Given the description of an element on the screen output the (x, y) to click on. 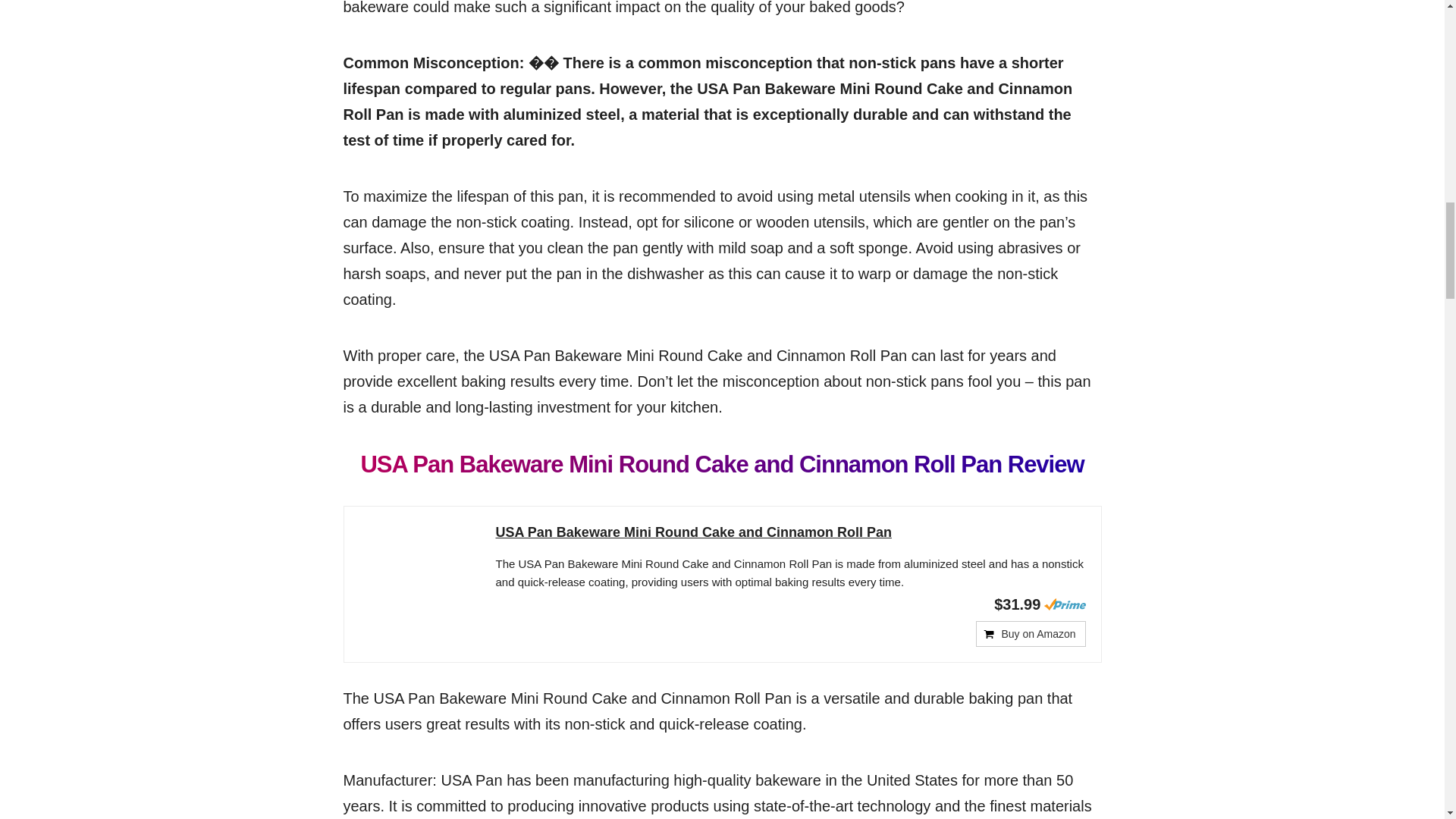
USA Pan Bakeware Mini Round Cake and Cinnamon Roll Pan (791, 532)
Buy on Amazon (1029, 633)
USA Pan Bakeware Mini Round Cake and Cinnamon Roll Pan (419, 578)
Amazon Prime (1063, 604)
Buy on Amazon (1029, 633)
USA Pan Bakeware Mini Round Cake and Cinnamon Roll Pan (791, 532)
